Given the description of an element on the screen output the (x, y) to click on. 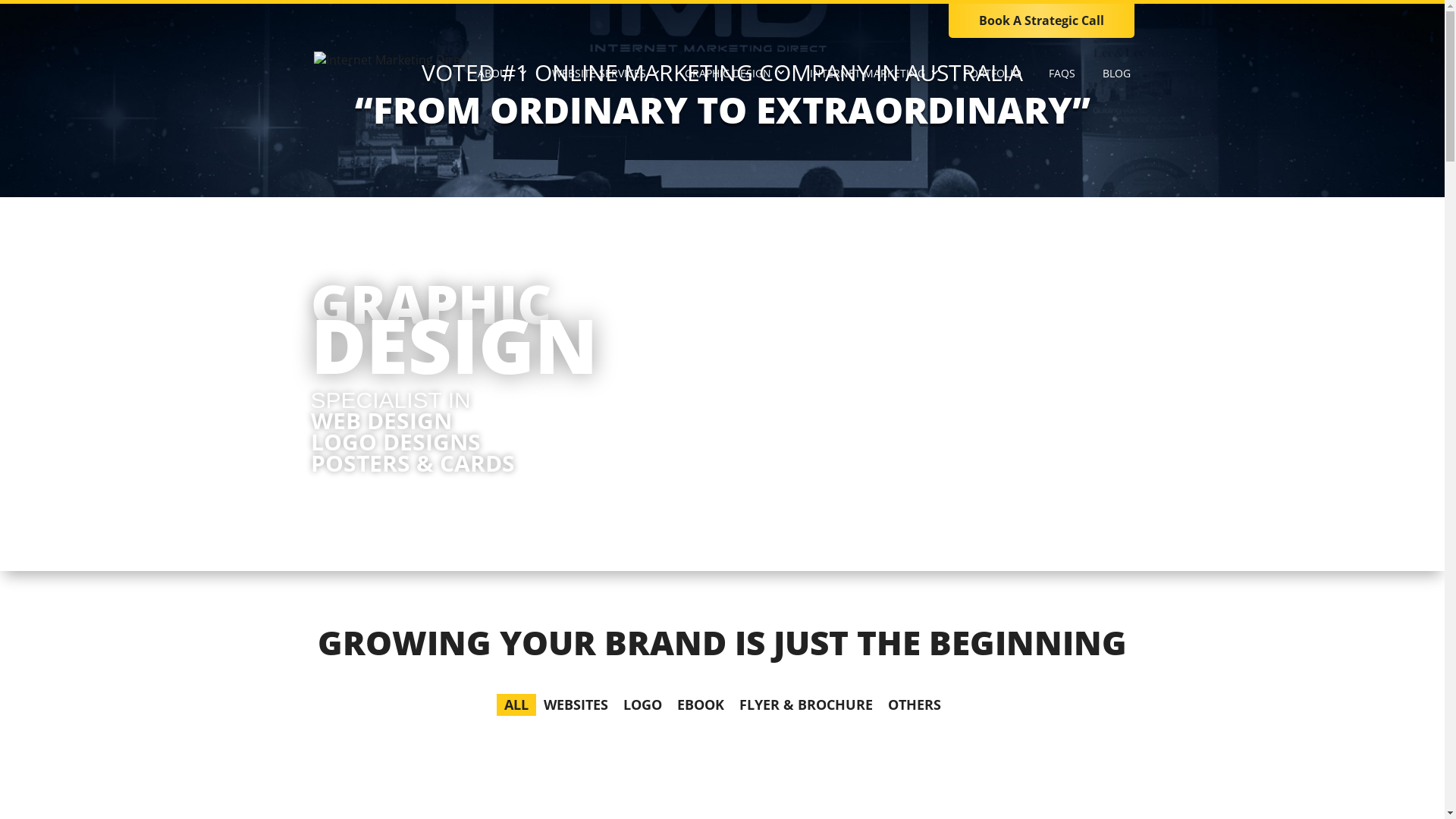
INTERNET MARKETING Element type: text (872, 80)
GRAPHIC DESIGN Element type: text (733, 80)
WEBSITE SERVICES Element type: text (603, 80)
WEBSITES Element type: text (575, 704)
FLYER & BROCHURE Element type: text (805, 704)
LOGO Element type: text (642, 704)
OTHERS Element type: text (913, 704)
Book A Strategic Call Element type: text (1040, 20)
ABOUT Element type: text (500, 80)
BLOG Element type: text (1115, 80)
PORTFOLIO Element type: text (992, 80)
ALL Element type: text (515, 704)
EBOOK Element type: text (699, 704)
FAQS Element type: text (1061, 80)
